Given the description of an element on the screen output the (x, y) to click on. 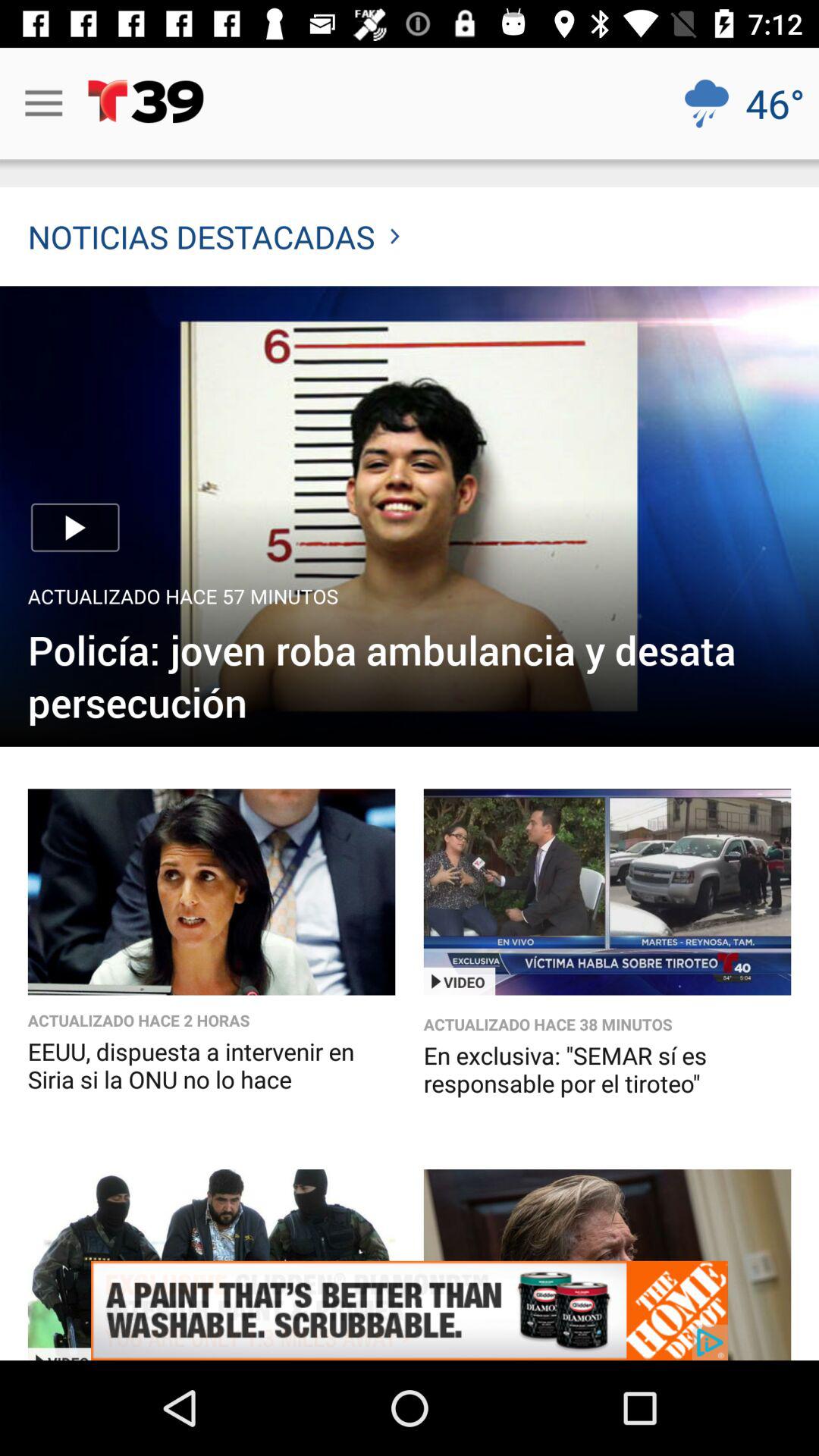
flip until the noticias destacadas item (213, 236)
